Given the description of an element on the screen output the (x, y) to click on. 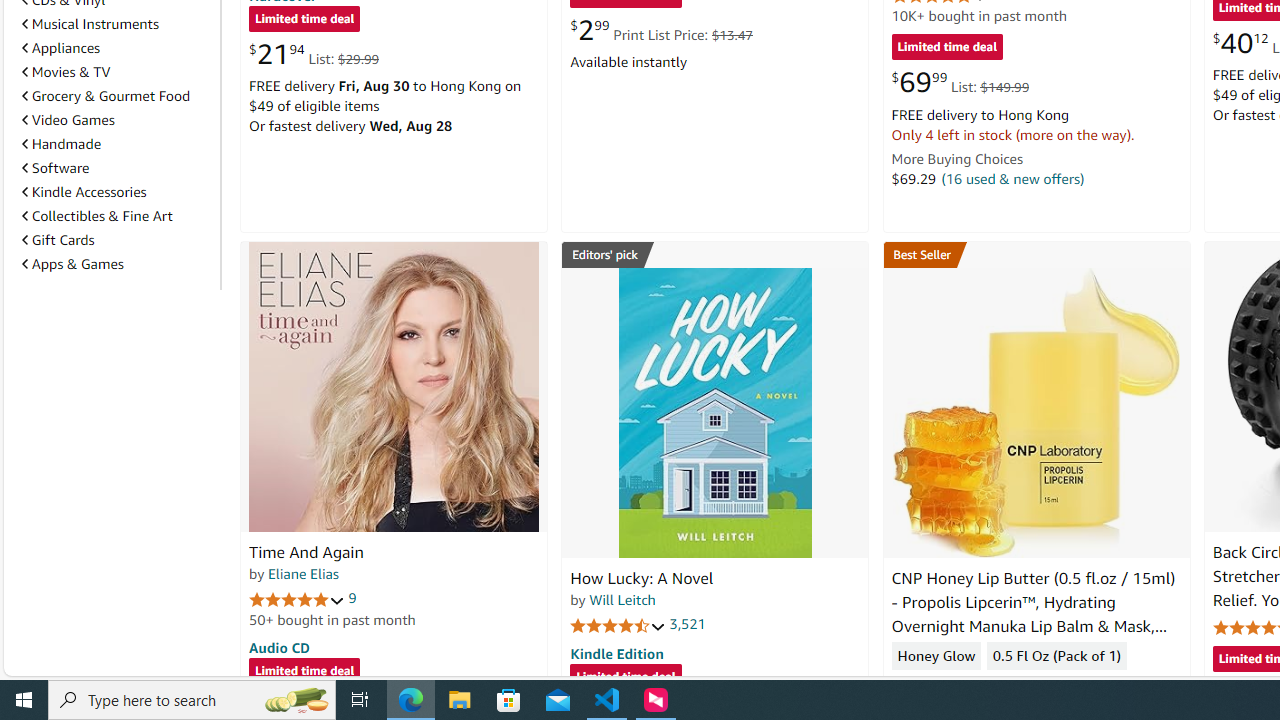
Collectibles & Fine Art (96, 215)
Best Seller in Lip Butters (1036, 254)
Limited time deal (625, 678)
Will Leitch (621, 599)
(16 used & new offers) (1012, 178)
Time And Again (306, 552)
Audio CD (279, 646)
Collectibles & Fine Art (117, 215)
Appliances (117, 48)
Kindle Accessories (84, 191)
Movies & TV (117, 71)
Grocery & Gourmet Food (117, 95)
Video Games (117, 120)
Gift Cards (57, 240)
